Given the description of an element on the screen output the (x, y) to click on. 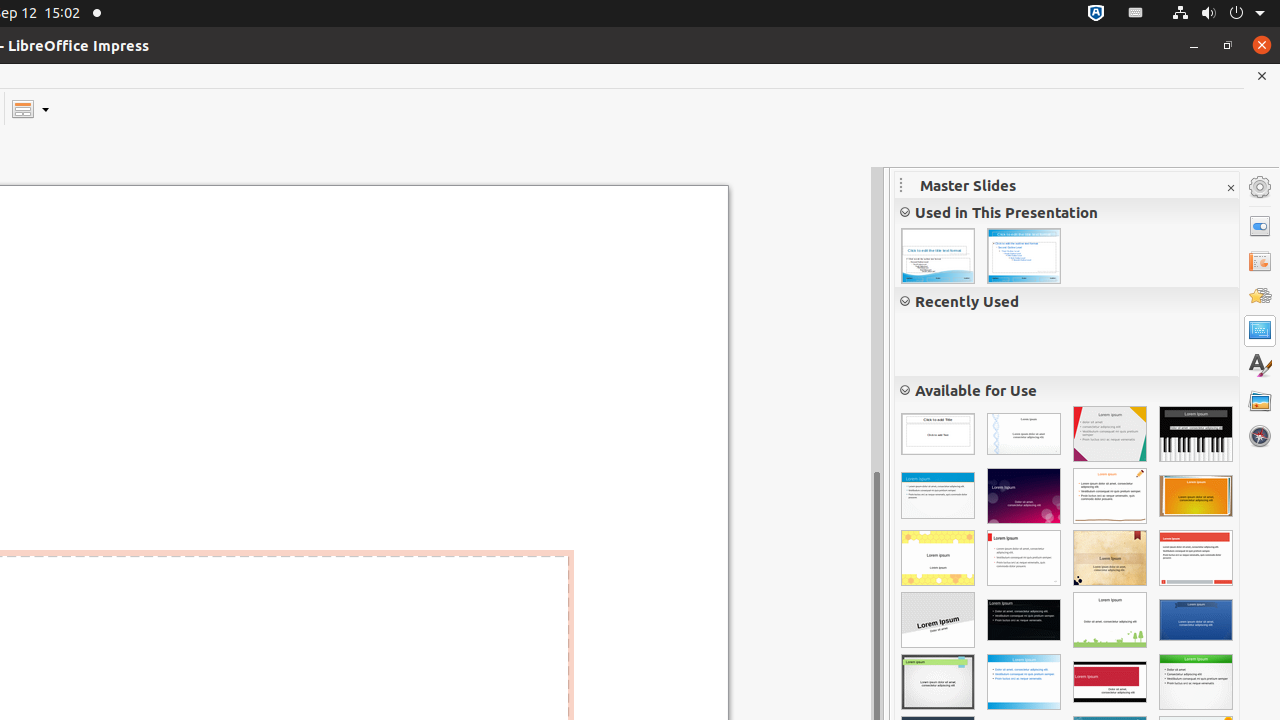
Focus Element type: list-item (1110, 434)
:1.72/StatusNotifierItem Element type: menu (1096, 13)
Slide Transition Element type: radio-button (1260, 261)
System Element type: menu (1218, 13)
Slide Layout Element type: push-button (30, 108)
